Given the description of an element on the screen output the (x, y) to click on. 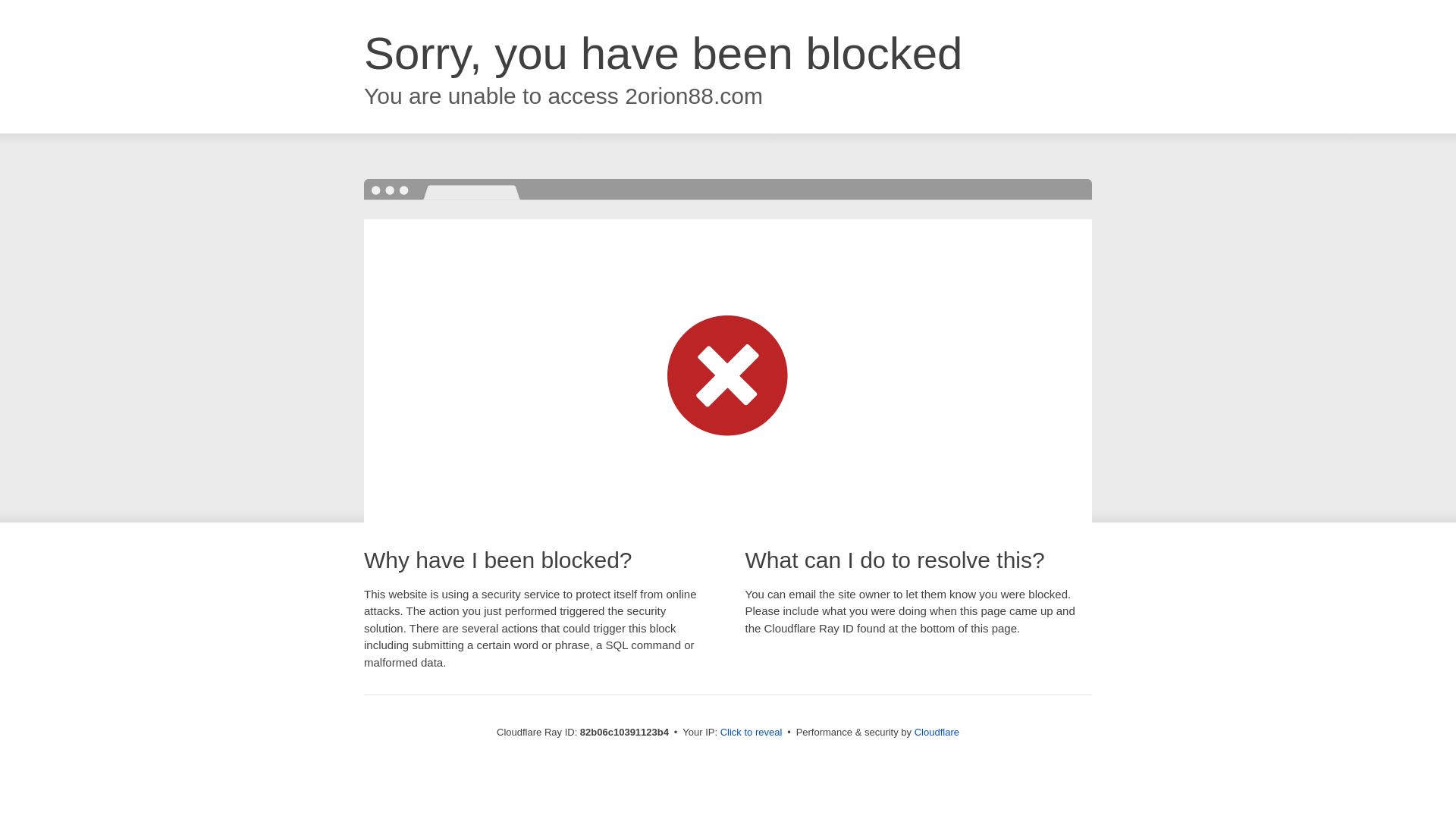
Click to reveal Element type: text (751, 732)
Cloudflare Element type: text (936, 731)
